Given the description of an element on the screen output the (x, y) to click on. 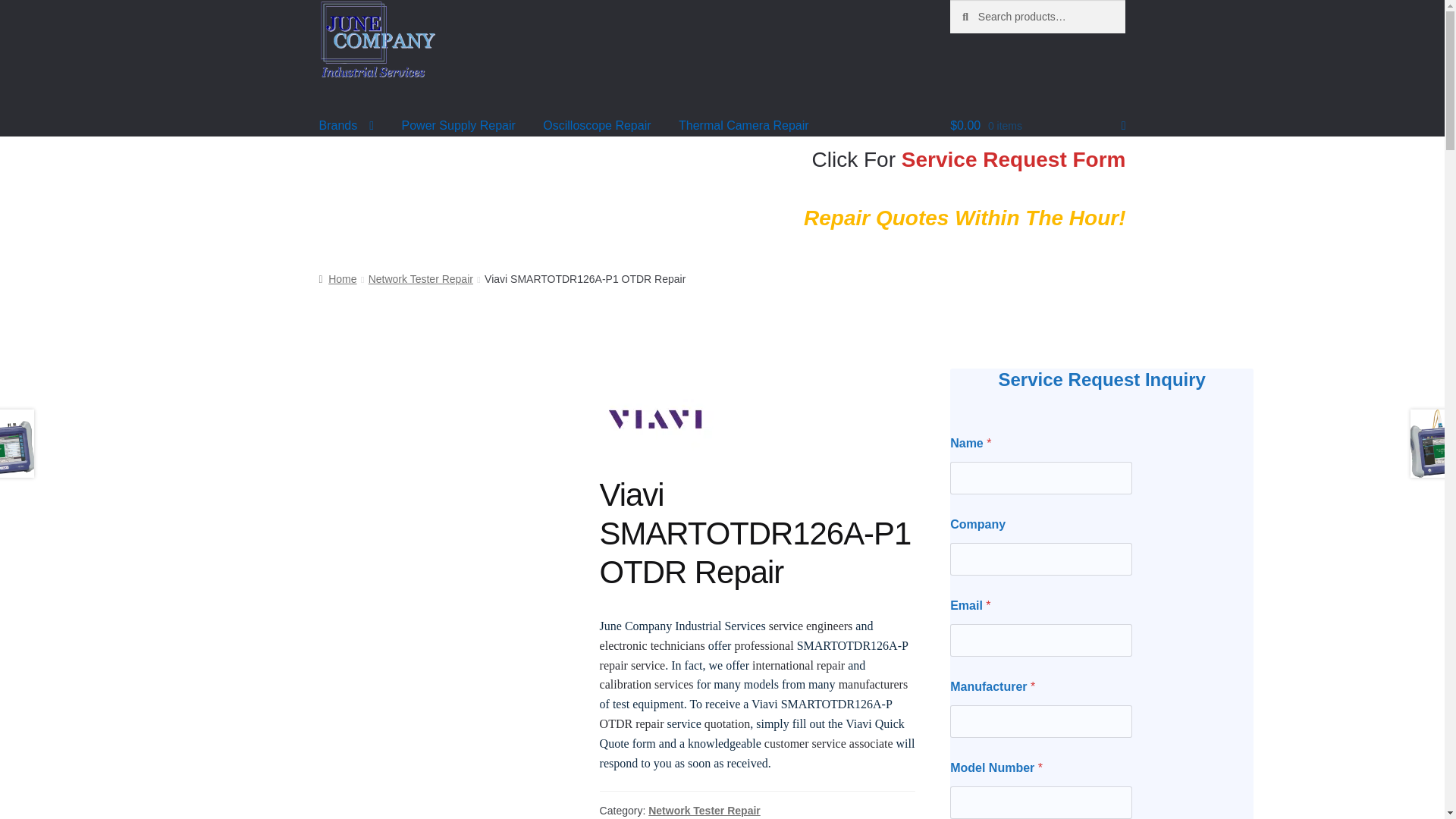
View your shopping cart (1037, 115)
Brands (347, 115)
Viavi Repair (656, 418)
